Given the description of an element on the screen output the (x, y) to click on. 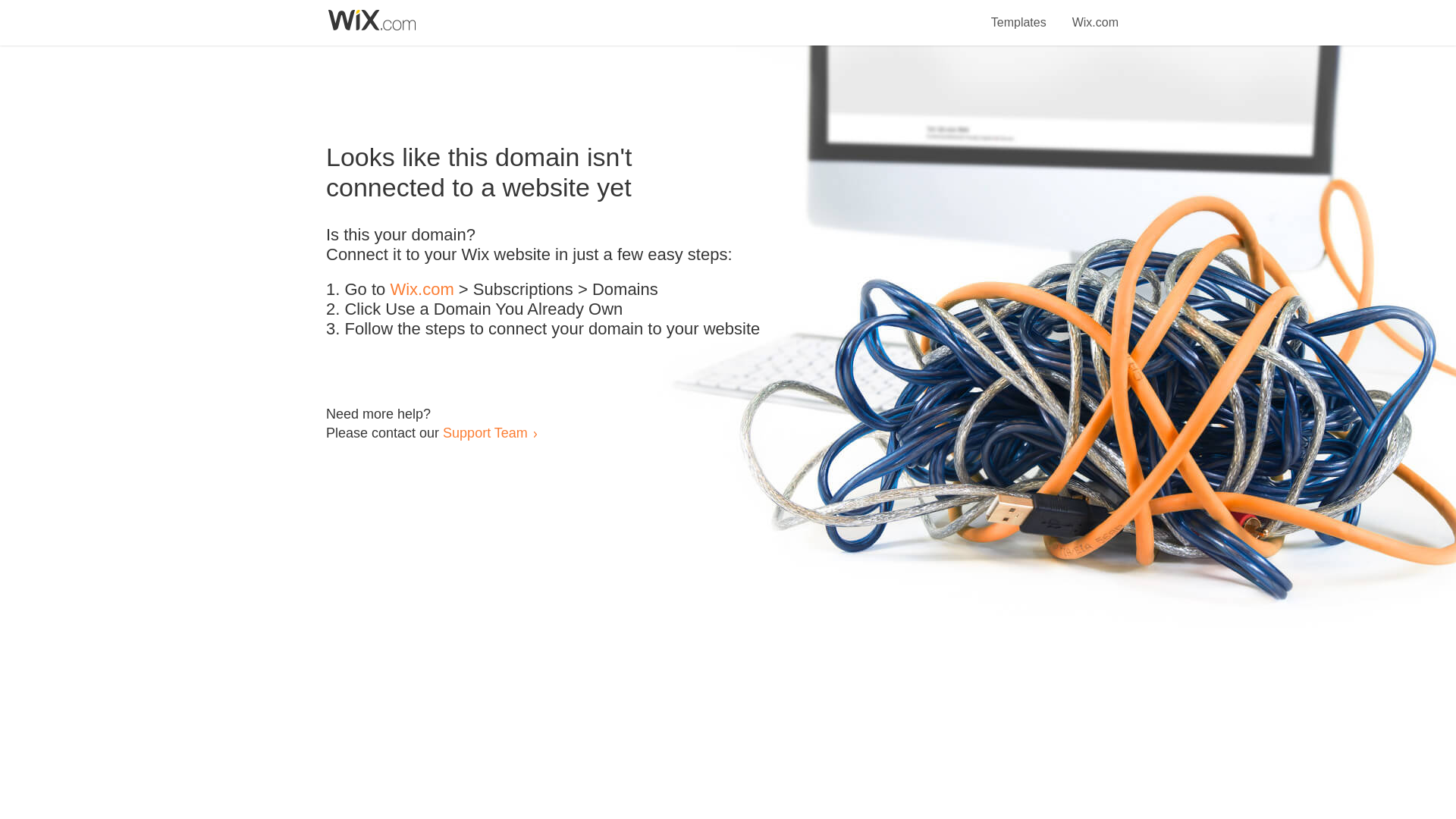
Wix.com (1095, 14)
Wix.com (421, 289)
Templates (1018, 14)
Support Team (484, 432)
